Given the description of an element on the screen output the (x, y) to click on. 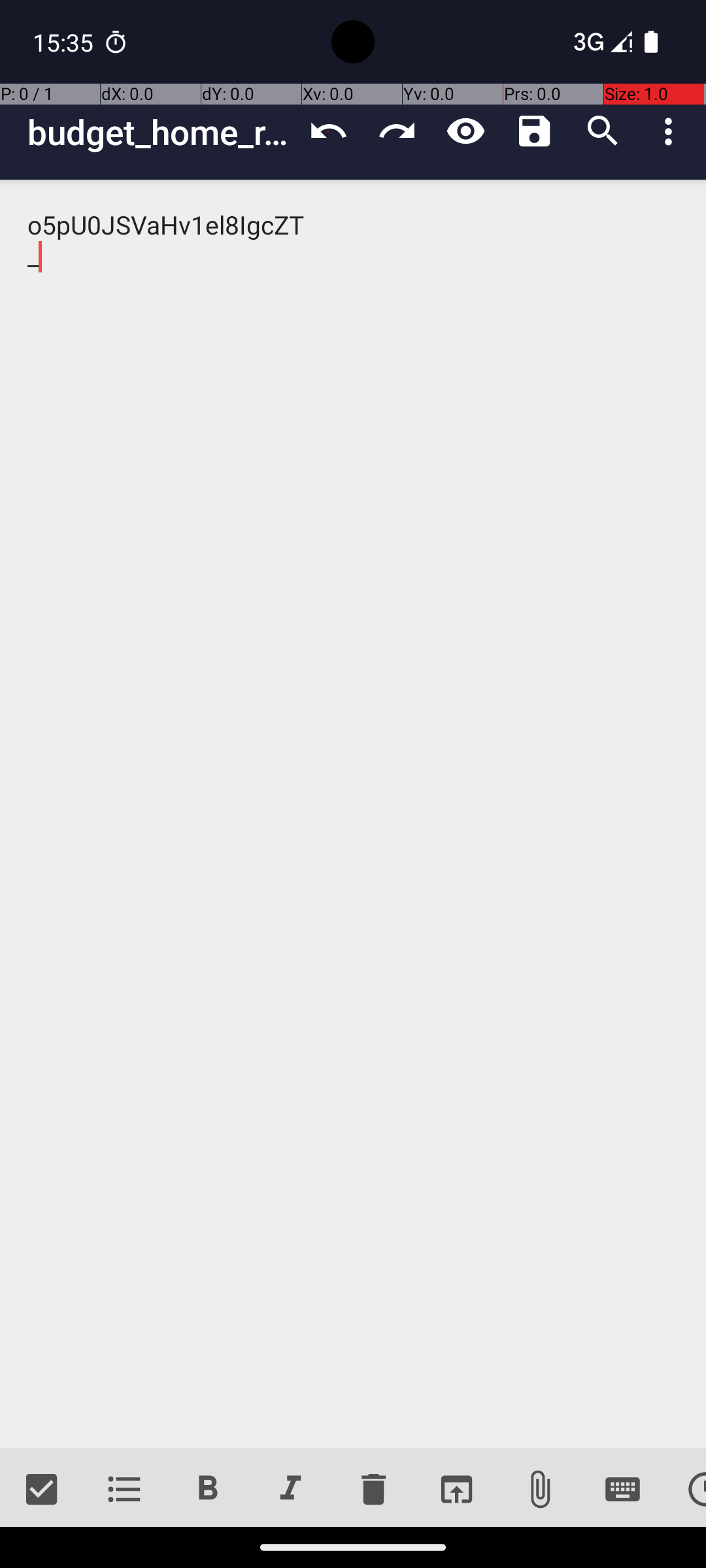
budget_home_renovation_final Element type: android.widget.TextView (160, 131)
o5pU0JSVaHv1el8IgcZT
__ Element type: android.widget.EditText (353, 813)
